Given the description of an element on the screen output the (x, y) to click on. 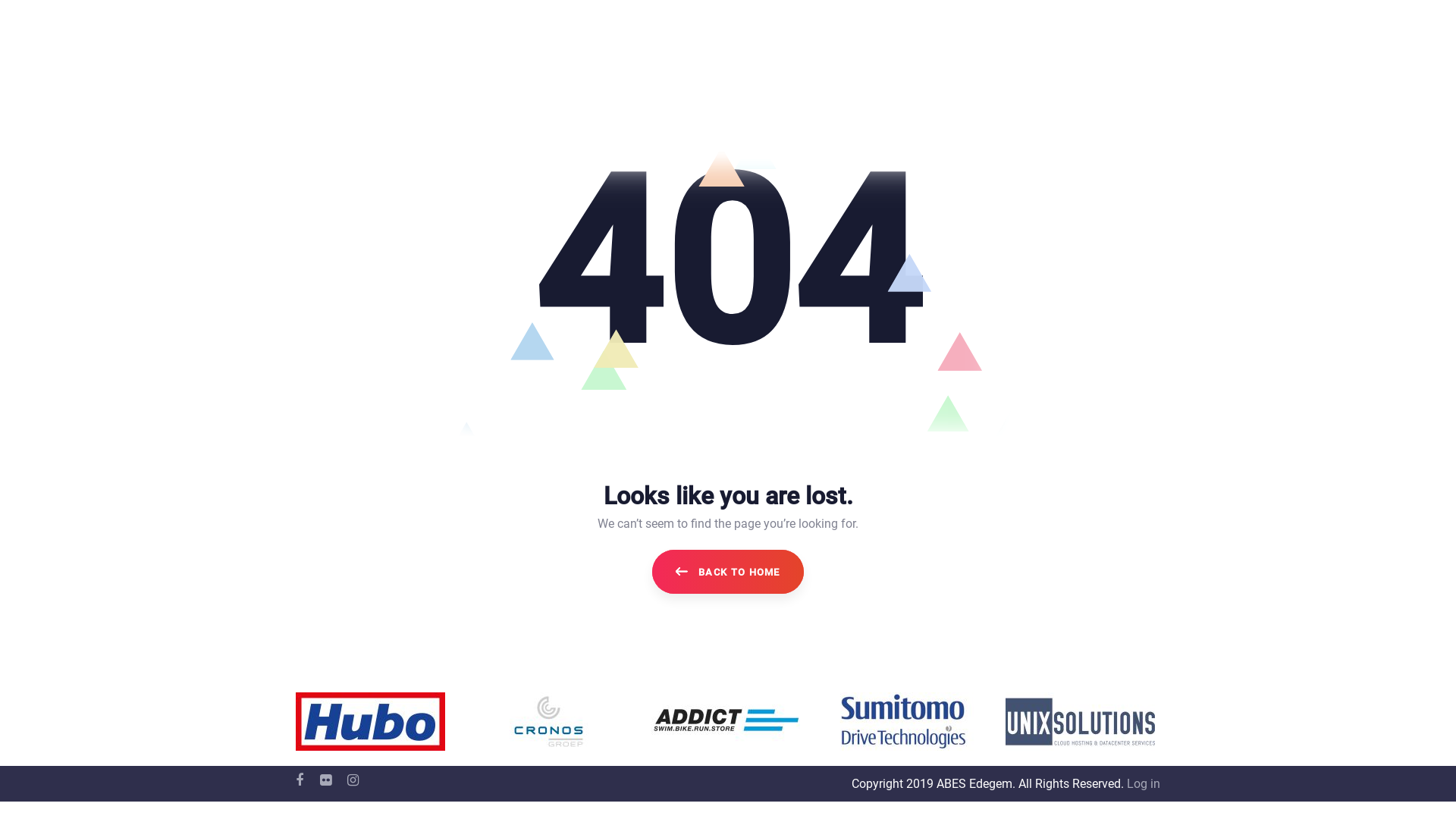
unix_site Element type: hover (1079, 721)
BACK TO HOME Element type: text (727, 571)
Log in Element type: text (1141, 783)
sumitomo_site Element type: hover (902, 721)
cronos_site Element type: hover (547, 721)
hubo_site Element type: hover (370, 721)
addict_site Element type: hover (725, 721)
